Given the description of an element on the screen output the (x, y) to click on. 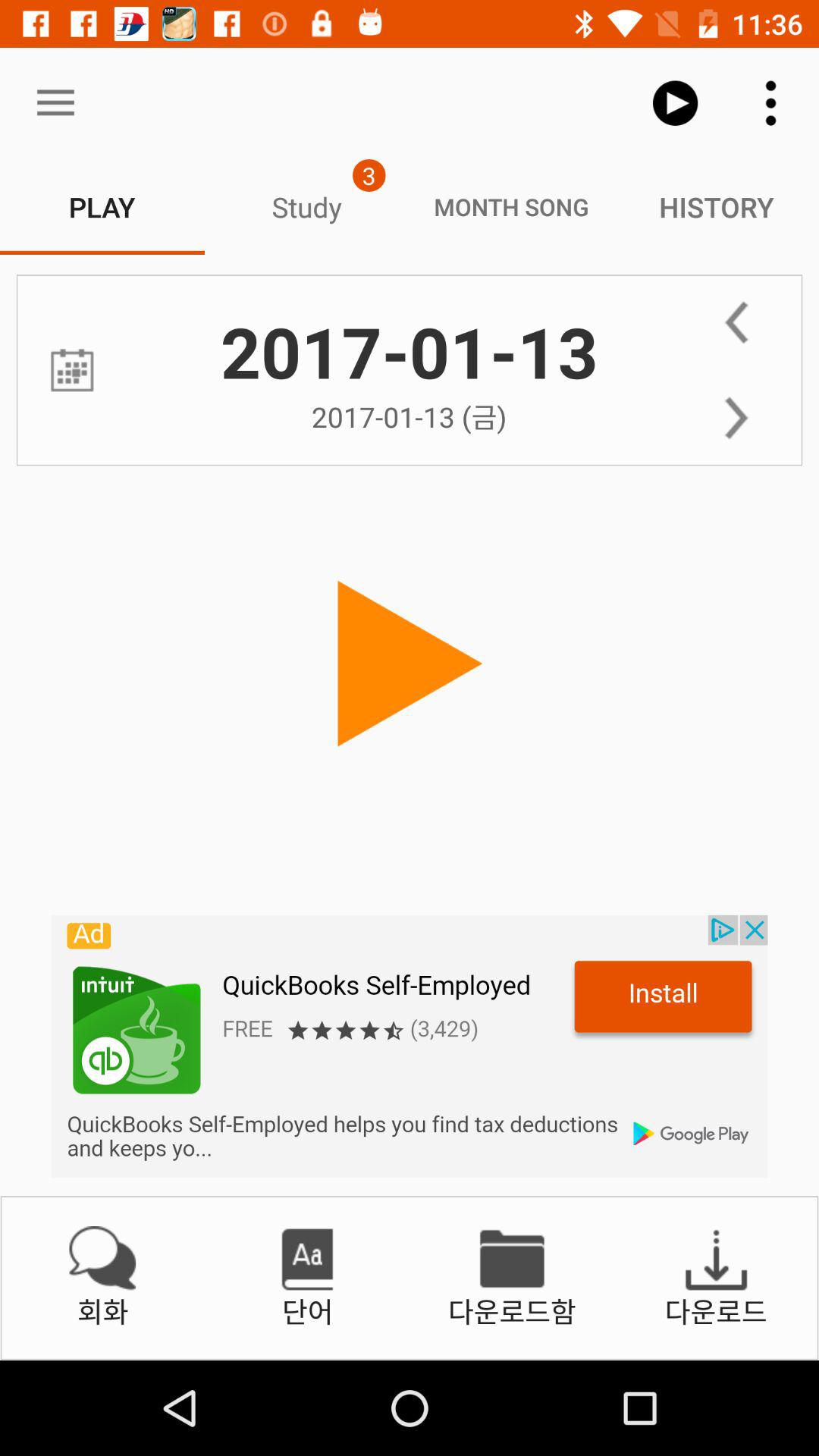
go to next item (736, 417)
